Given the description of an element on the screen output the (x, y) to click on. 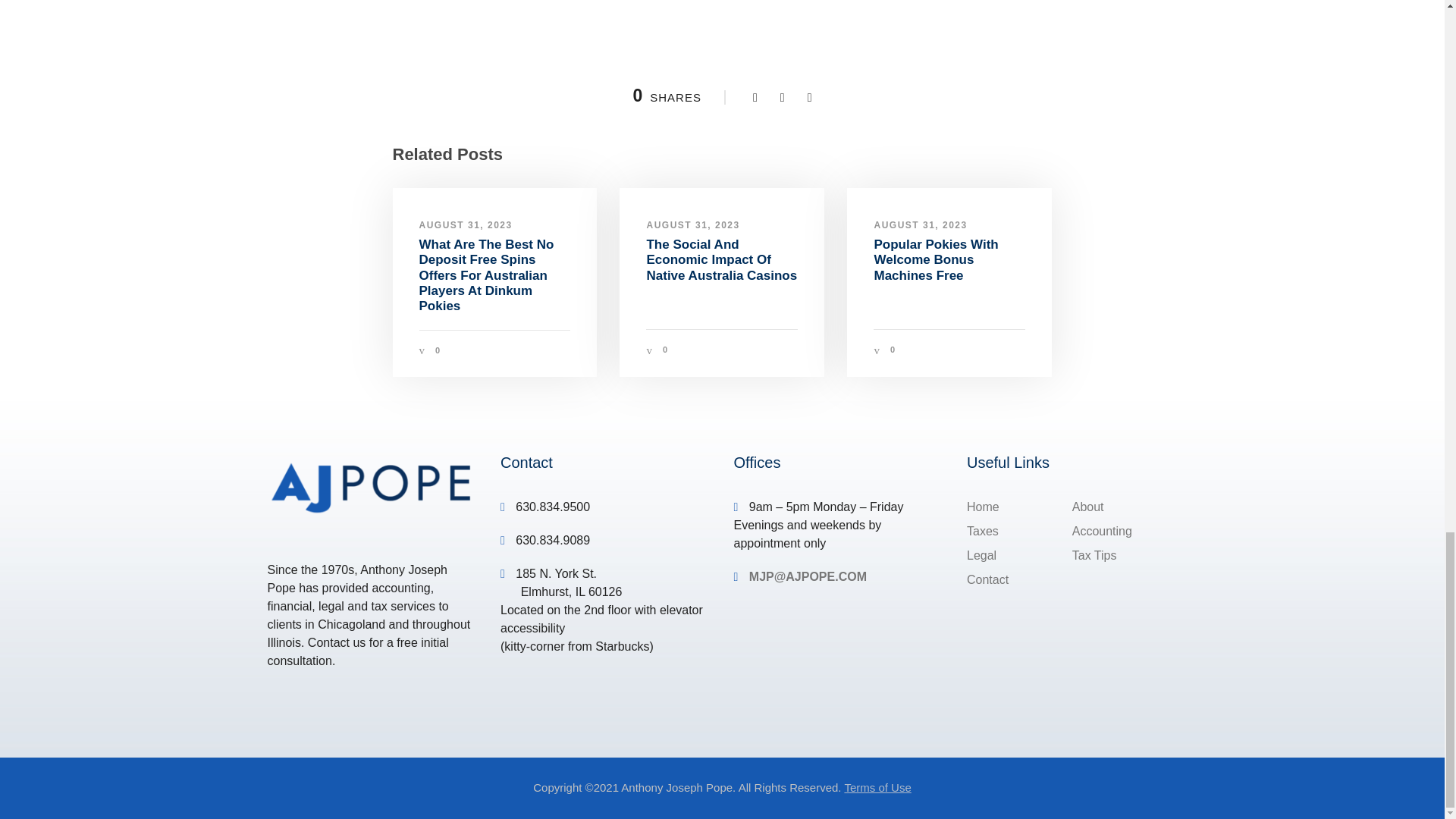
0 (665, 348)
AUGUST 31, 2023 (692, 225)
AUGUST 31, 2023 (465, 225)
The Social And Economic Impact Of Native Australia Casinos (721, 259)
0 (438, 349)
